Given the description of an element on the screen output the (x, y) to click on. 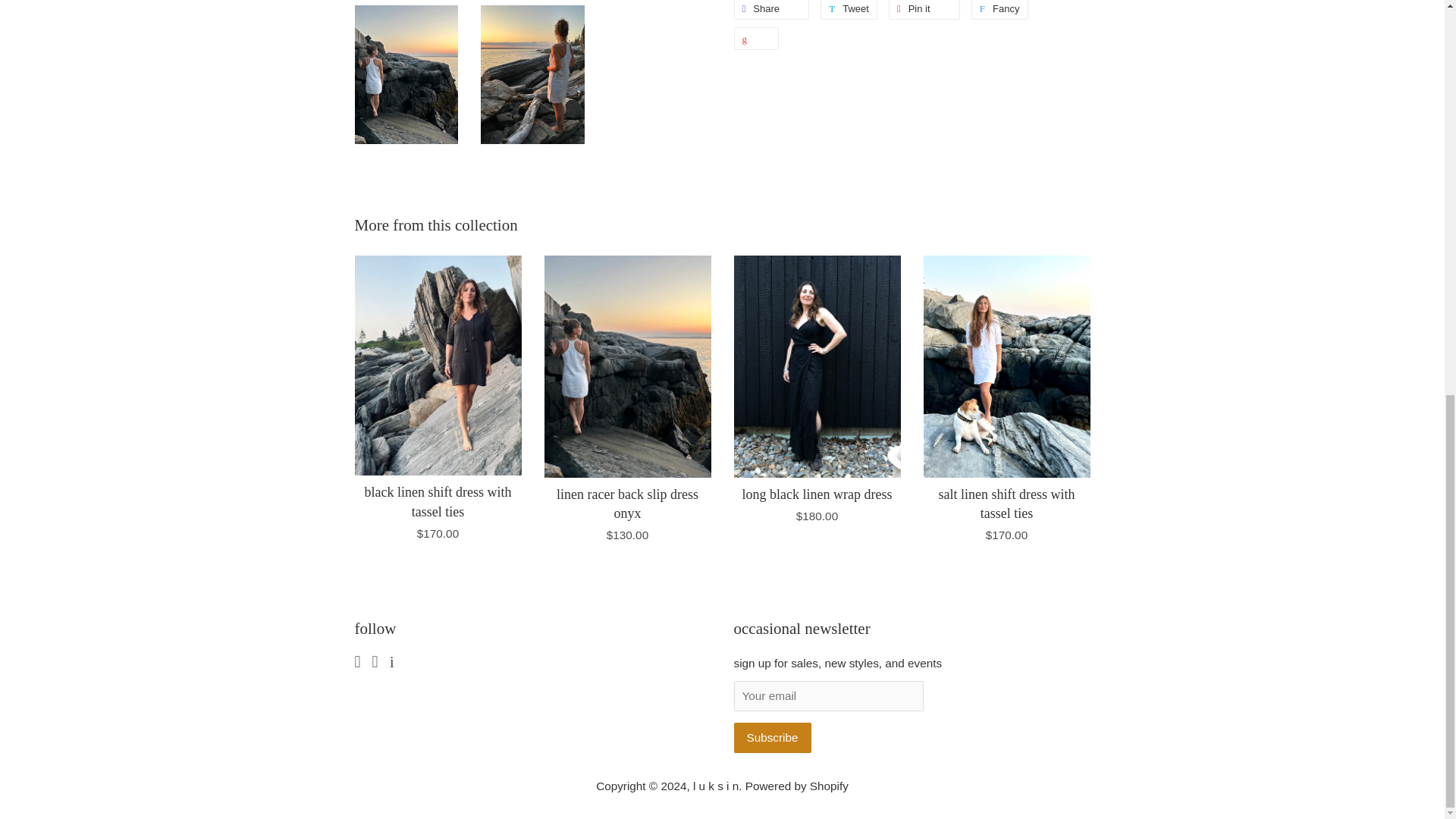
Subscribe (771, 737)
